Given the description of an element on the screen output the (x, y) to click on. 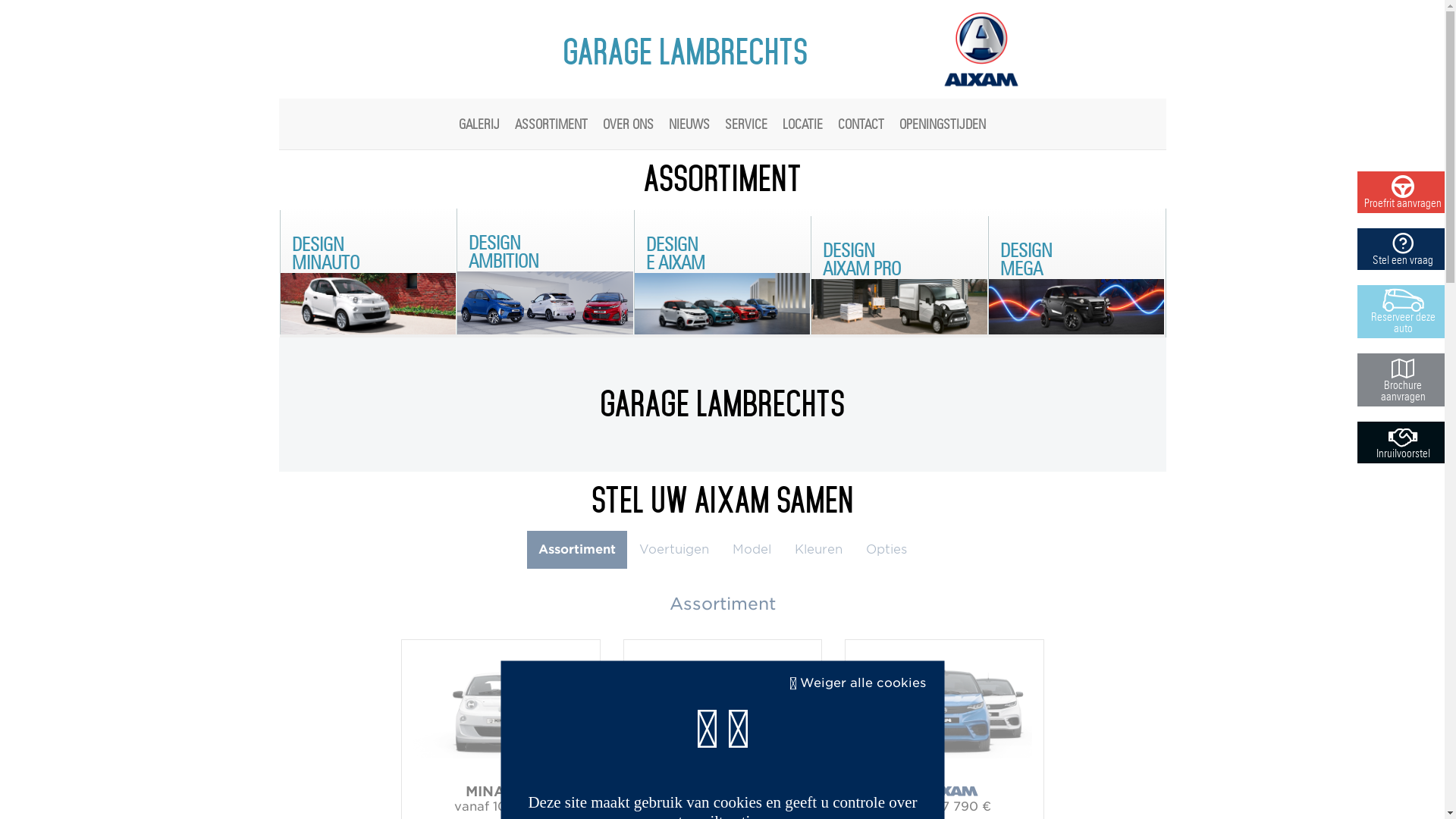
CONTACT Element type: text (860, 122)
NIEUWS Element type: text (689, 122)
SERVICE Element type: text (746, 122)
ASSORTIMENT Element type: text (551, 122)
OPENINGSTIJDEN Element type: text (942, 122)
LOCATIE Element type: text (802, 122)
Proefrit aanvragen Element type: text (1402, 192)
Stel een vraag Element type: text (1402, 248)
OVER ONS Element type: text (628, 122)
GALERIJ Element type: text (479, 122)
Reserveer deze auto Element type: text (1402, 311)
Inruilvoorstel Element type: text (1402, 442)
Brochure aanvragen Element type: text (1402, 379)
